Given the description of an element on the screen output the (x, y) to click on. 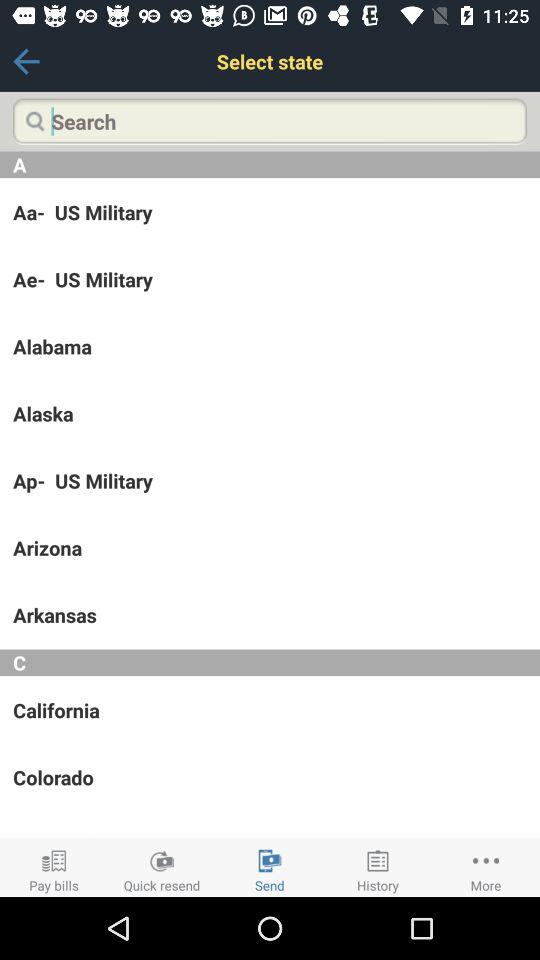
swipe until arkansas app (270, 615)
